Given the description of an element on the screen output the (x, y) to click on. 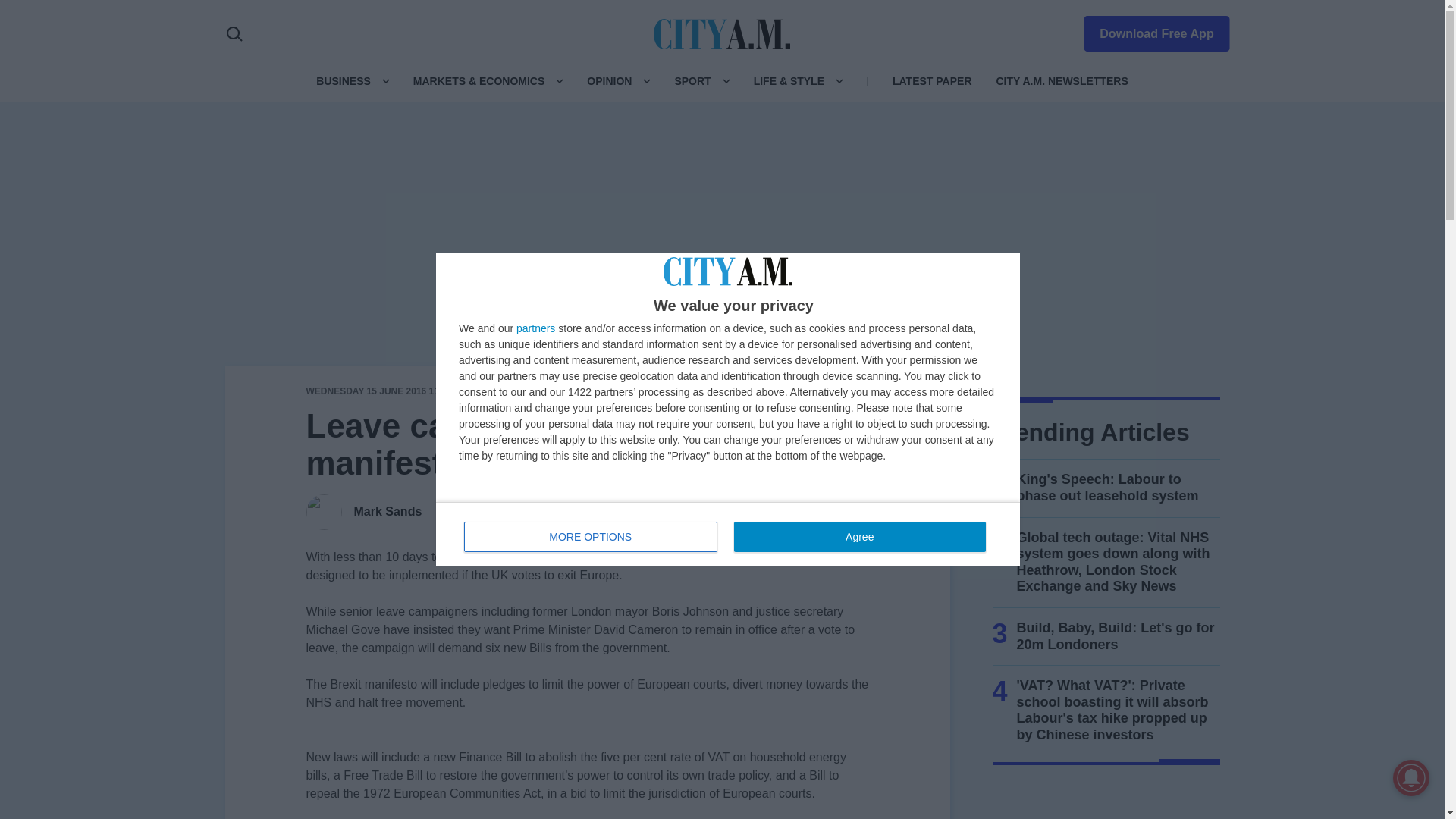
MORE OPTIONS (590, 536)
Download Free App (1146, 30)
partners (535, 327)
Agree (859, 536)
CityAM (721, 33)
BUSINESS (727, 533)
